Given the description of an element on the screen output the (x, y) to click on. 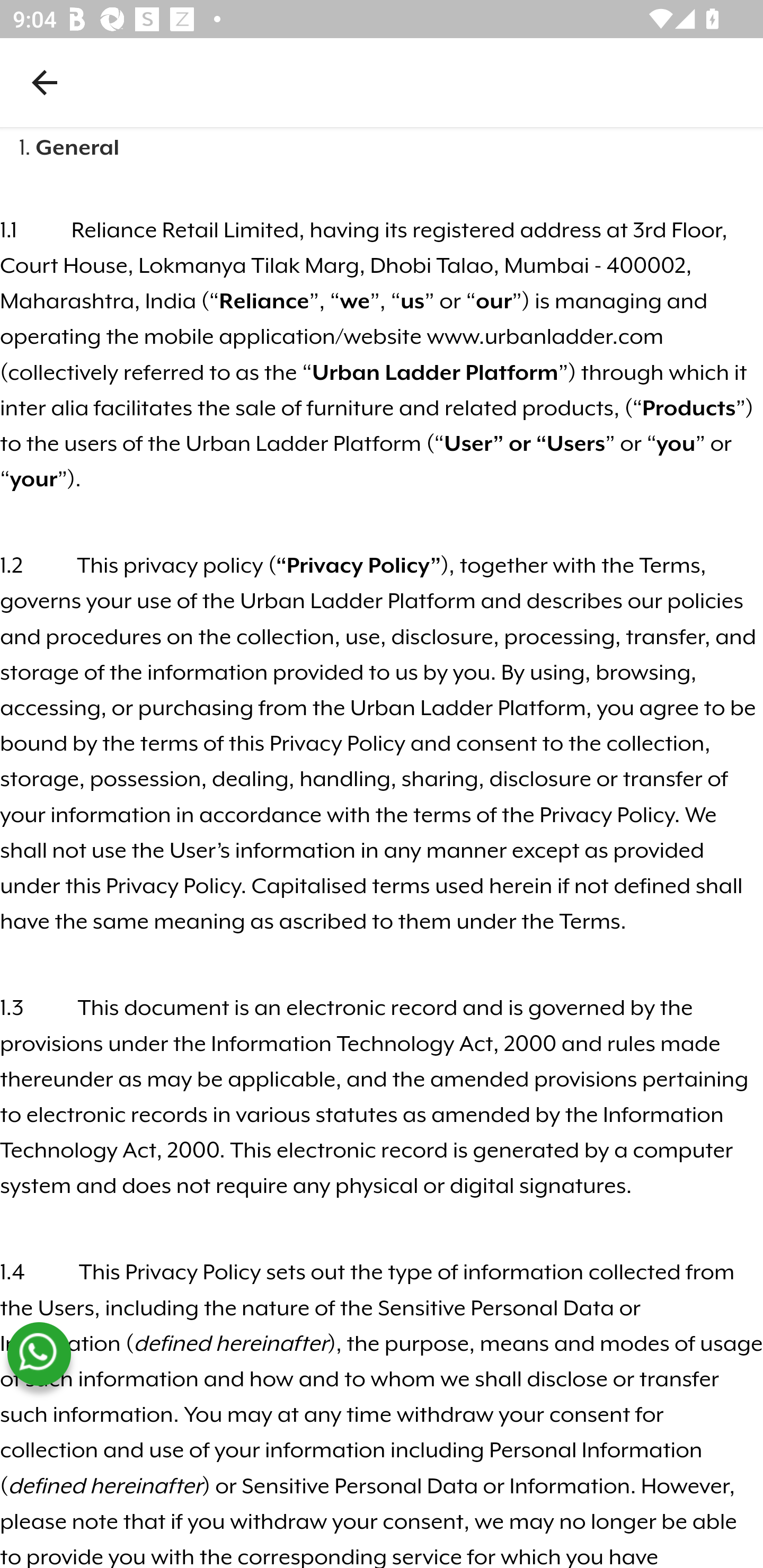
Navigate up (44, 82)
whatsapp (38, 1353)
